Given the description of an element on the screen output the (x, y) to click on. 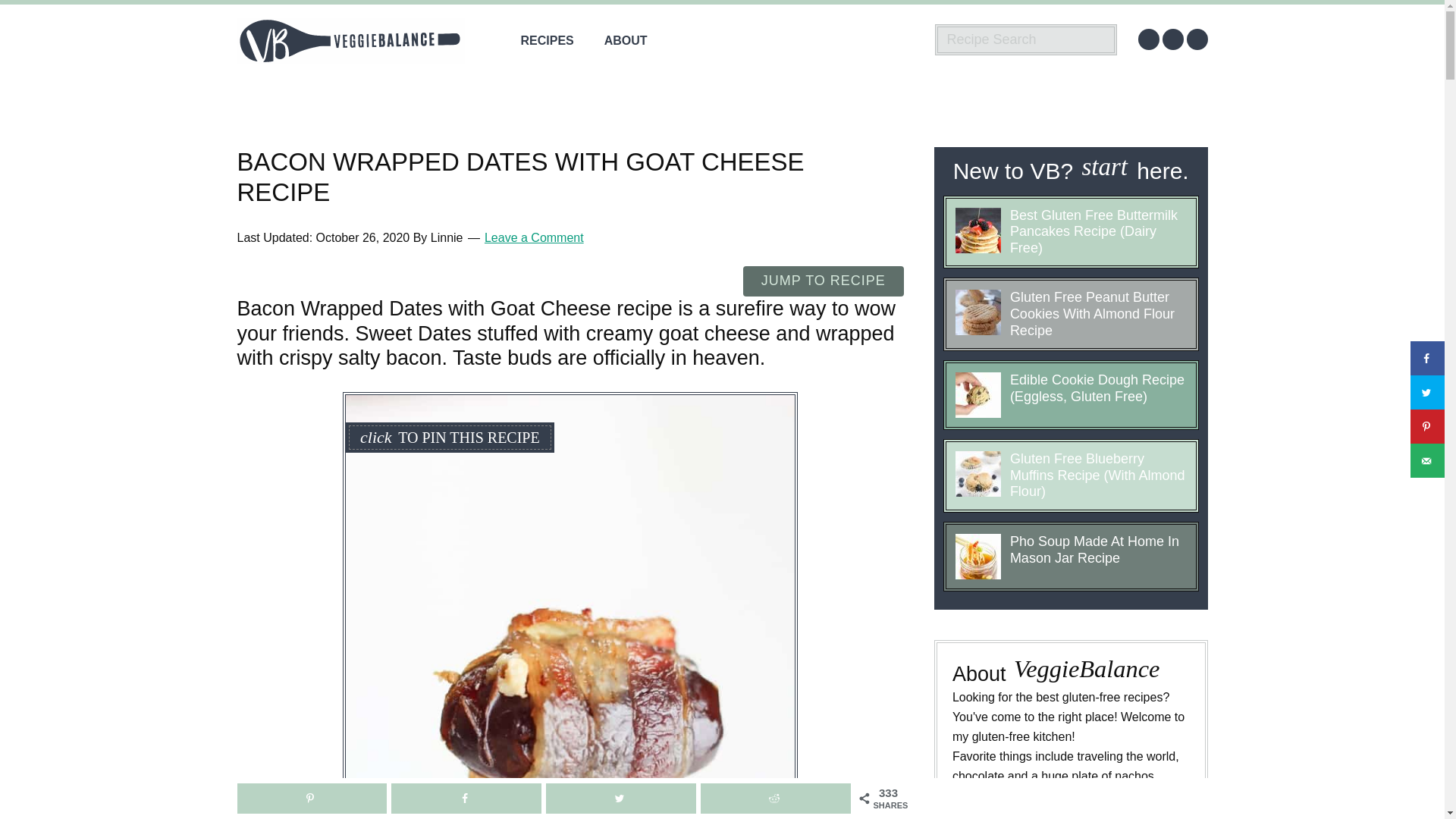
Search (1207, 24)
ABOUT (625, 40)
JUMP TO RECIPE (823, 281)
Share on Twitter (620, 798)
Share on Reddit (775, 798)
Leave a Comment (533, 237)
Plant-Based Easy Recipes by Veggie Balance (349, 40)
Search (1207, 24)
Share on Facebook (466, 798)
